Given the description of an element on the screen output the (x, y) to click on. 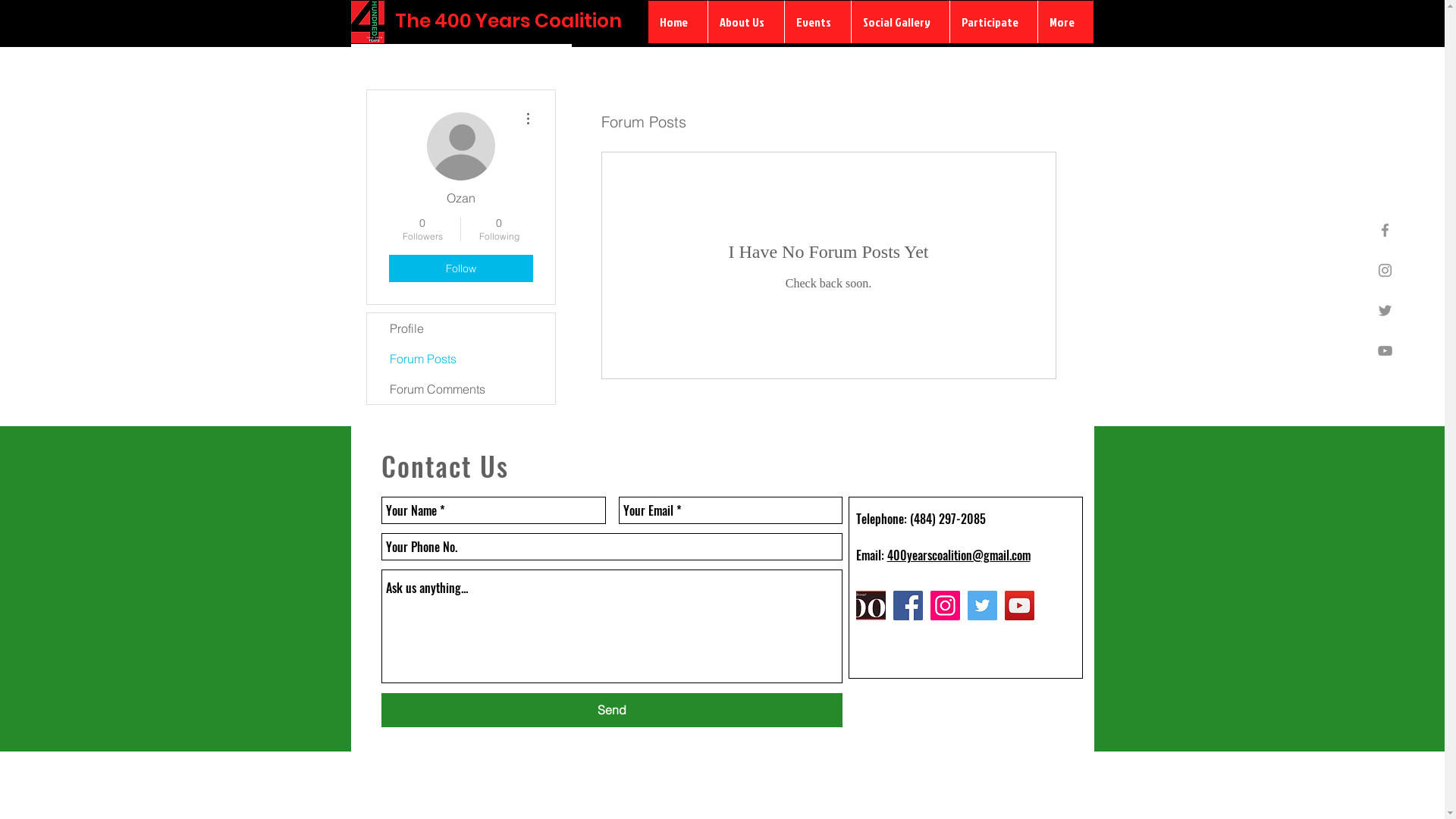
400yearscoalition@gmail.com Element type: text (958, 555)
Forum Comments Element type: text (461, 388)
Events Element type: text (817, 21)
Participate Element type: text (993, 21)
0
Following Element type: text (499, 228)
Send Element type: text (610, 710)
Follow Element type: text (460, 268)
Social Gallery Element type: text (899, 21)
Profile Element type: text (461, 328)
0
Followers Element type: text (421, 228)
Home Element type: text (676, 21)
About Us Element type: text (744, 21)
Forum Posts Element type: text (461, 358)
